Given the description of an element on the screen output the (x, y) to click on. 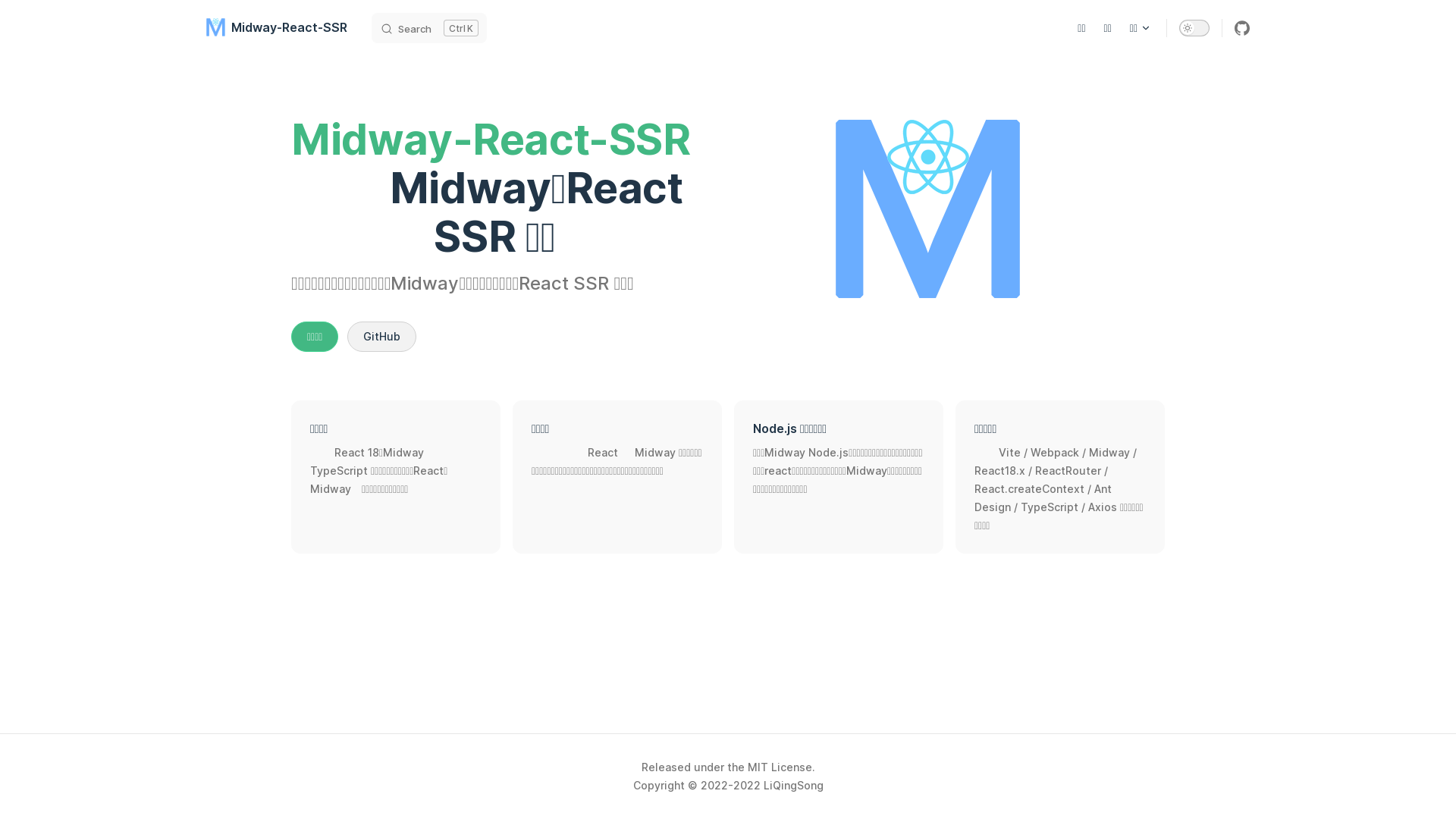
Midway-React-SSR Element type: text (276, 27)
GitHub Element type: text (381, 336)
Skip to content Element type: text (24, 16)
Search
K Element type: text (428, 27)
